Given the description of an element on the screen output the (x, y) to click on. 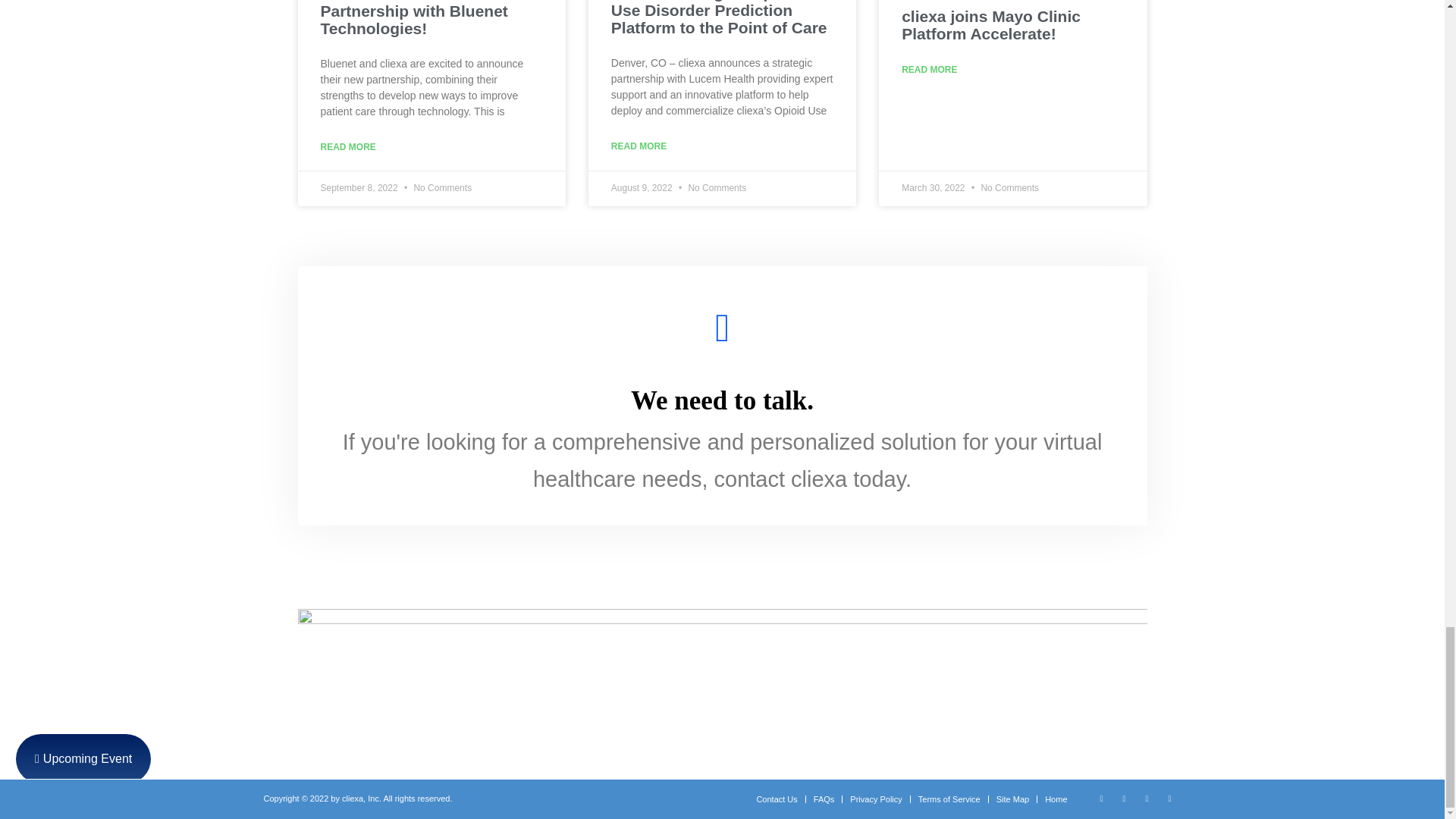
LinkedIn (1124, 798)
Facebook (1146, 798)
Twitter (1101, 798)
Youtube (1169, 798)
Home (1056, 798)
